Given the description of an element on the screen output the (x, y) to click on. 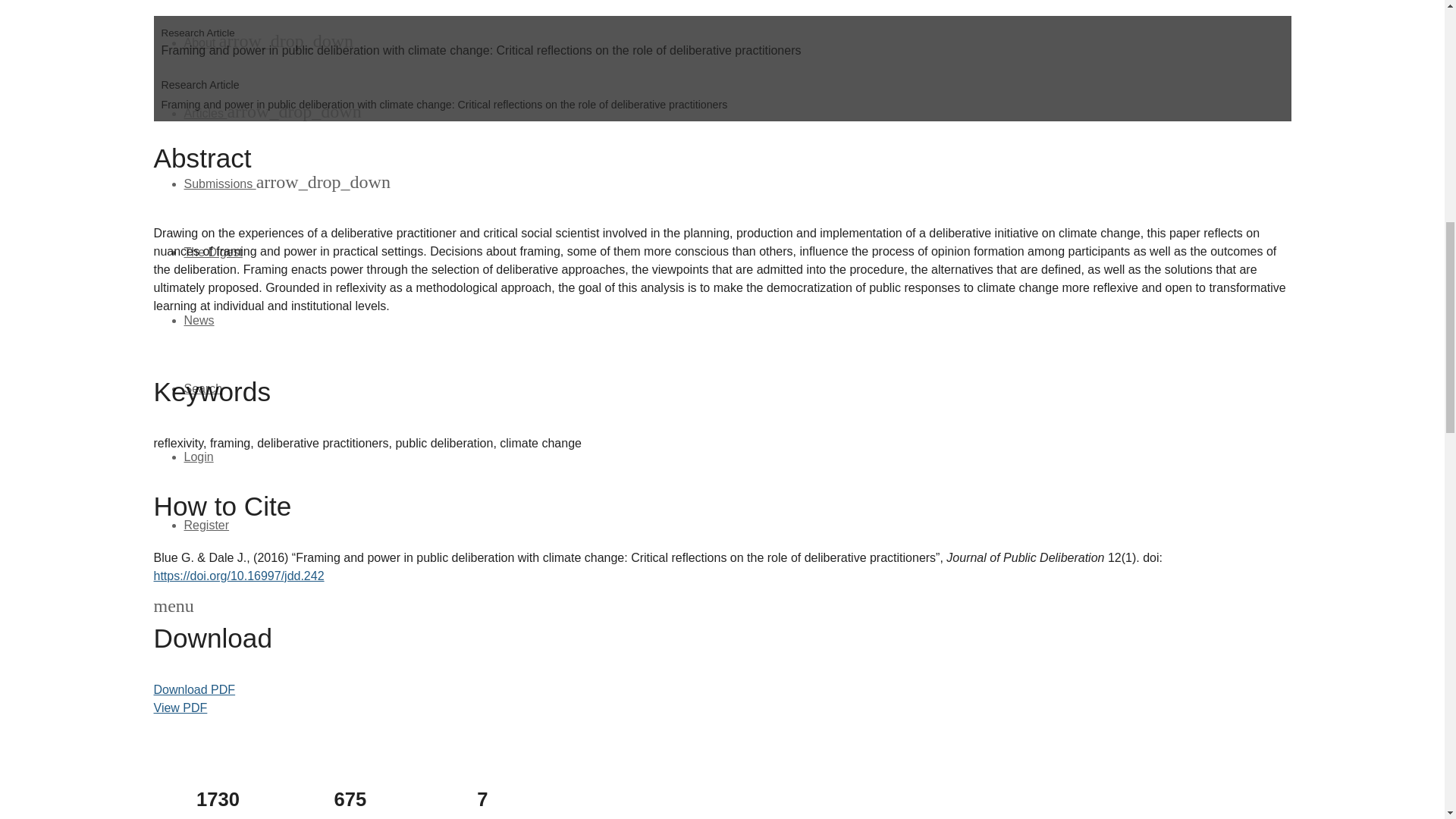
Register (205, 524)
Login (197, 456)
The Digest (212, 251)
Search (202, 388)
News (198, 319)
menu (172, 607)
